Given the description of an element on the screen output the (x, y) to click on. 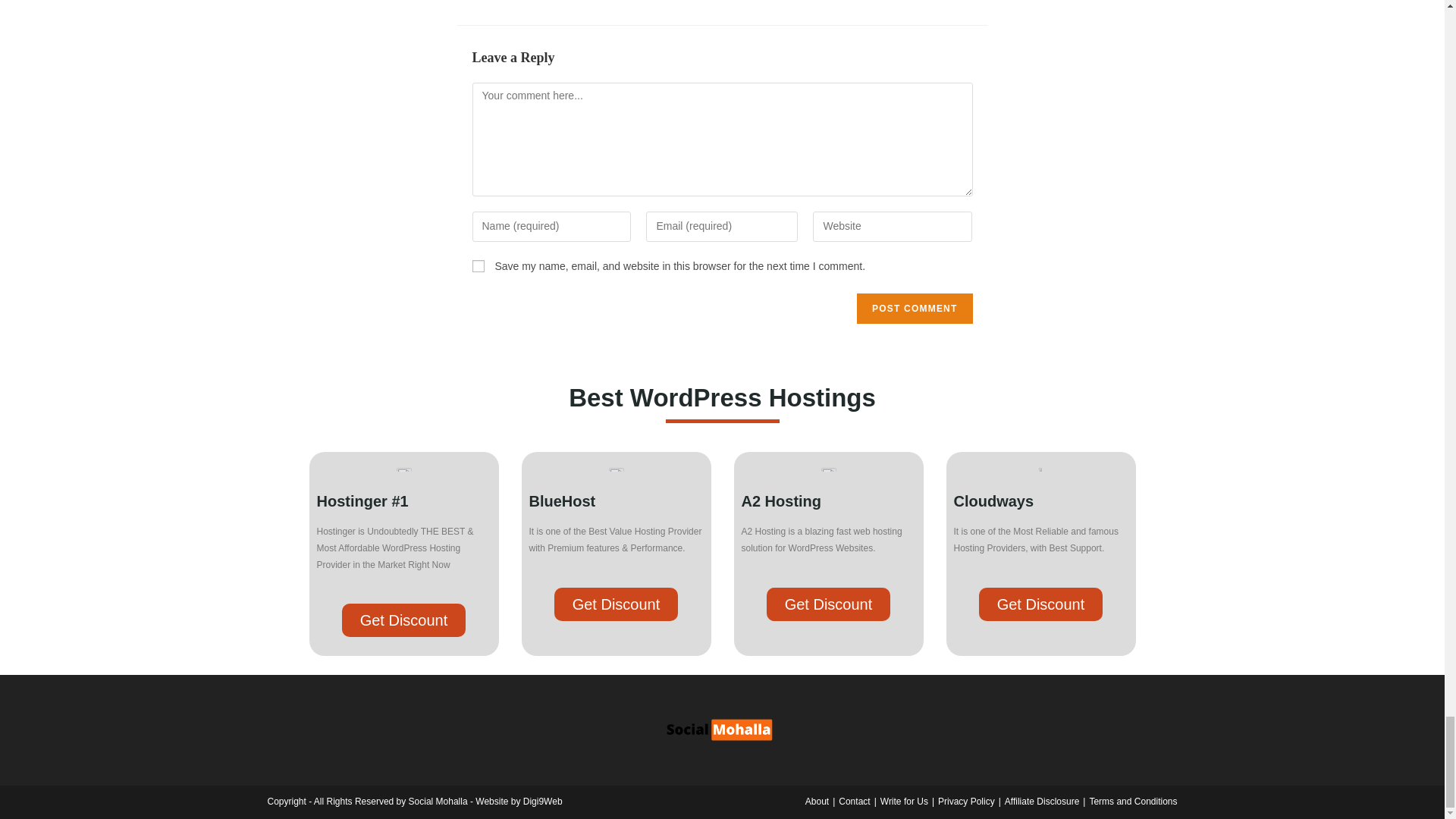
Post Comment (914, 308)
yes (477, 265)
